Given the description of an element on the screen output the (x, y) to click on. 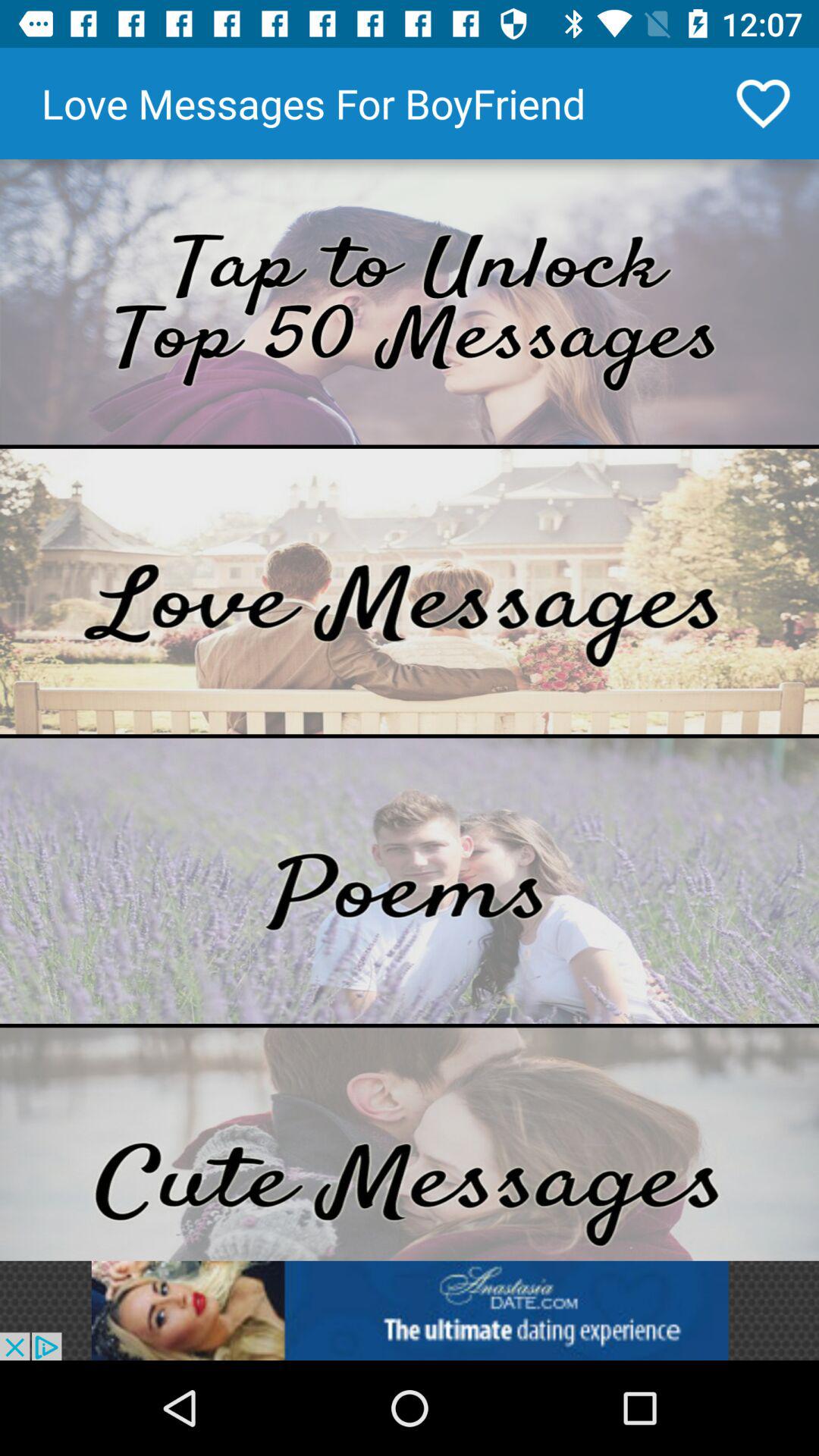
go to advertisement page (409, 1310)
